Given the description of an element on the screen output the (x, y) to click on. 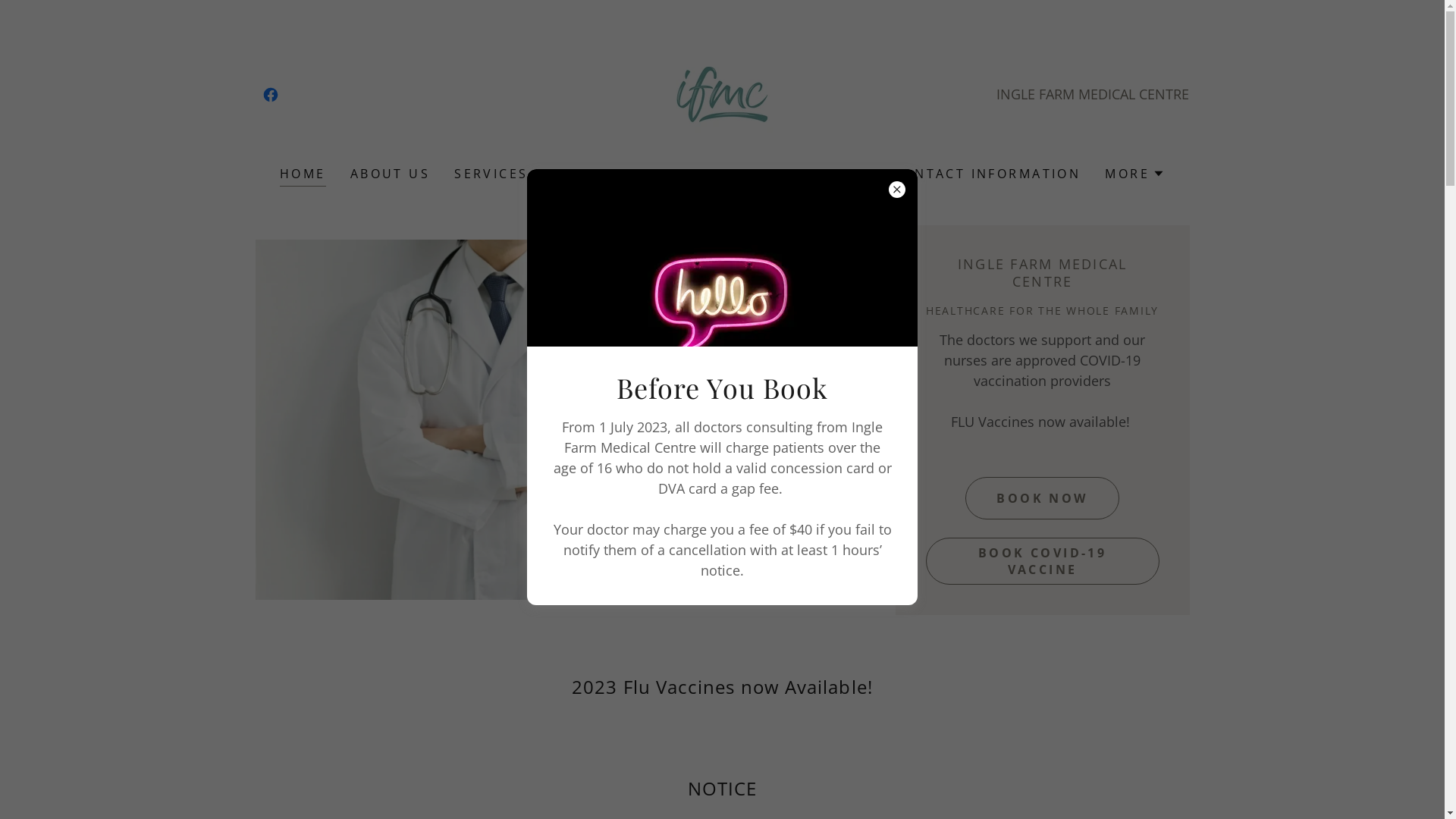
HOME Element type: text (302, 175)
MORE Element type: text (1134, 173)
THE DOCTORS Element type: text (607, 173)
CONTACT INFORMATION Element type: text (986, 173)
BOOK NOW Element type: text (1041, 497)
Ingle Farm Medical Centre Element type: hover (722, 92)
ABOUT US Element type: text (389, 173)
SERVICES Element type: text (490, 173)
BOOK COVID-19 VACCINE Element type: text (1041, 559)
PATIENT INFORMATION Element type: text (777, 173)
